Given the description of an element on the screen output the (x, y) to click on. 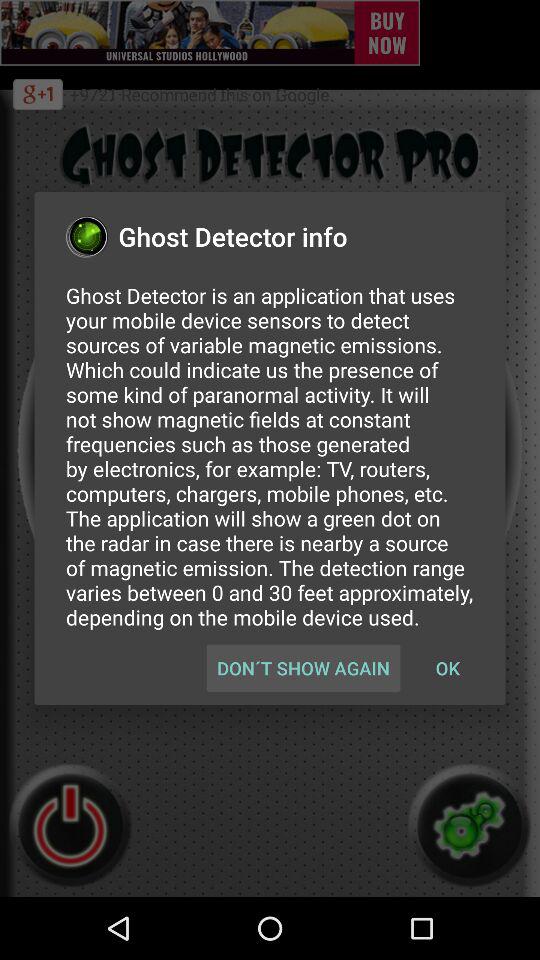
turn off the don t show icon (303, 667)
